Given the description of an element on the screen output the (x, y) to click on. 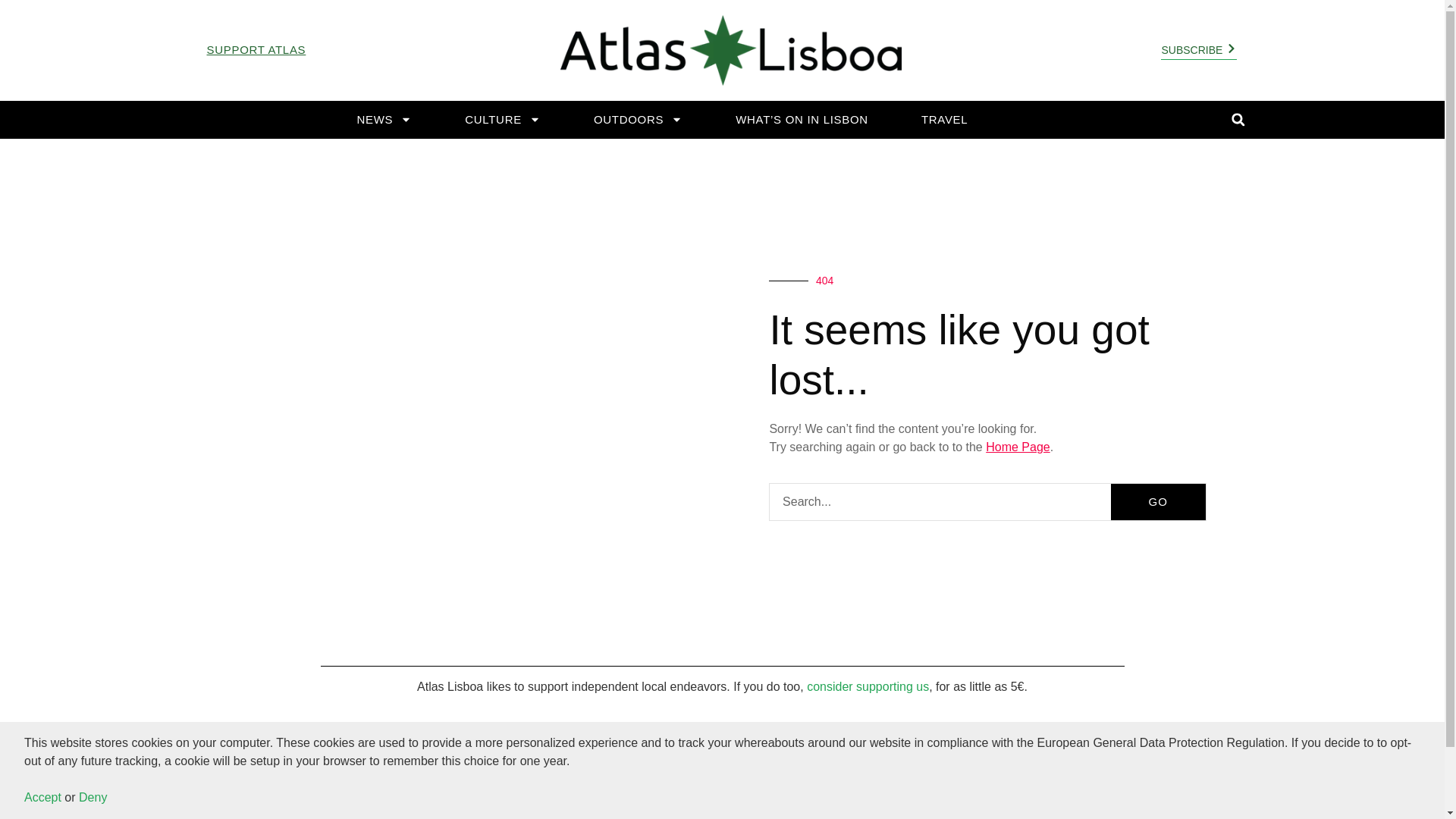
GO (1157, 502)
About Atlas Lisboa (1269, 759)
SUBSCRIBE (382, 794)
Privacy Policy (1206, 794)
NEWS (383, 119)
Partners and Press (1305, 794)
CULTURE (502, 119)
SUBSCRIBE (1198, 50)
TRAVEL (944, 119)
SUPPORT ATLAS (255, 49)
consider supporting us (867, 686)
OUTDOORS (637, 119)
Contact (1189, 759)
